Given the description of an element on the screen output the (x, y) to click on. 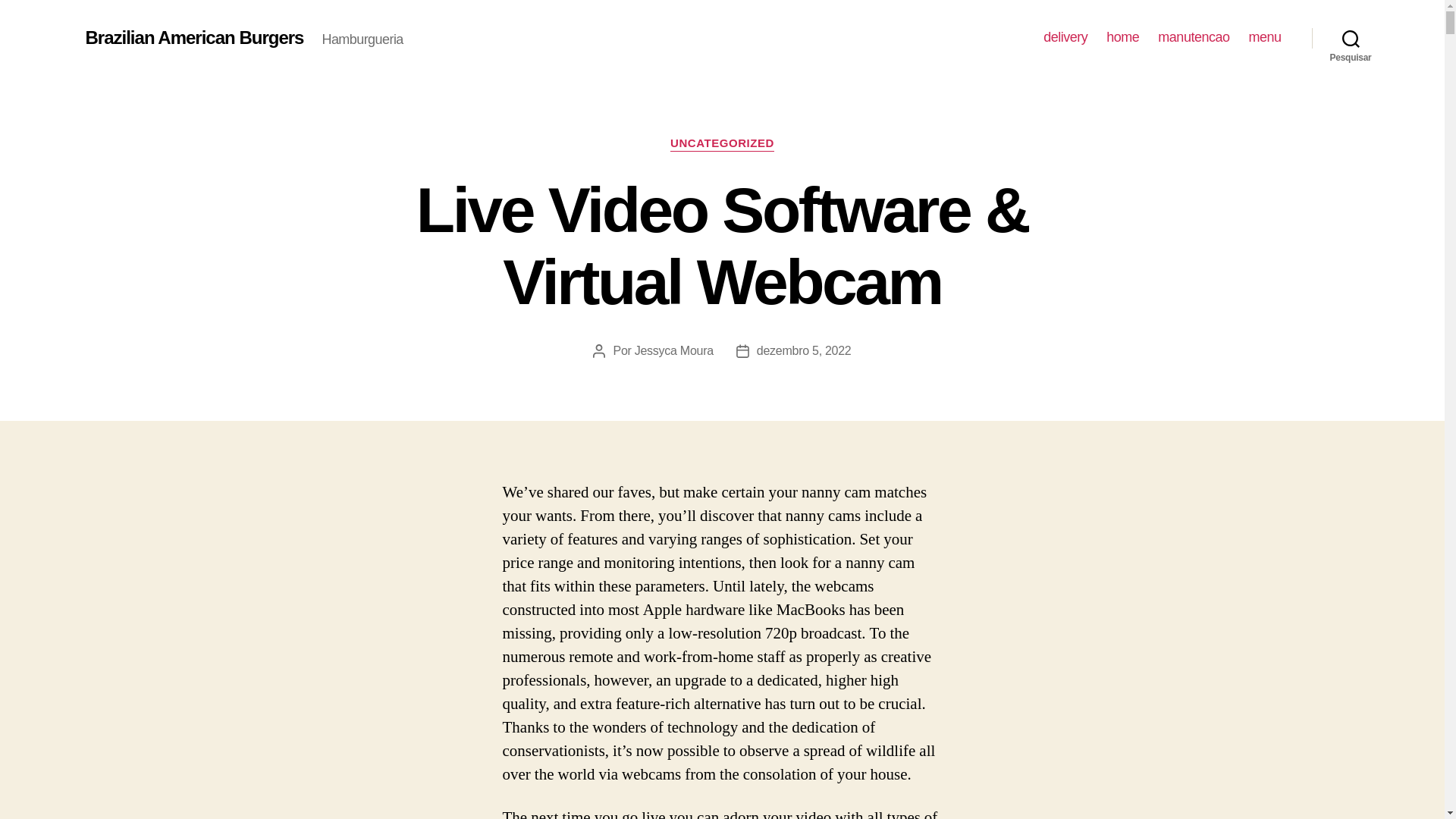
UNCATEGORIZED (721, 143)
menu (1264, 37)
manutencao (1192, 37)
Pesquisar (1350, 37)
dezembro 5, 2022 (804, 350)
delivery (1065, 37)
home (1122, 37)
Jessyca Moura (673, 350)
Brazilian American Burgers (193, 37)
